Given the description of an element on the screen output the (x, y) to click on. 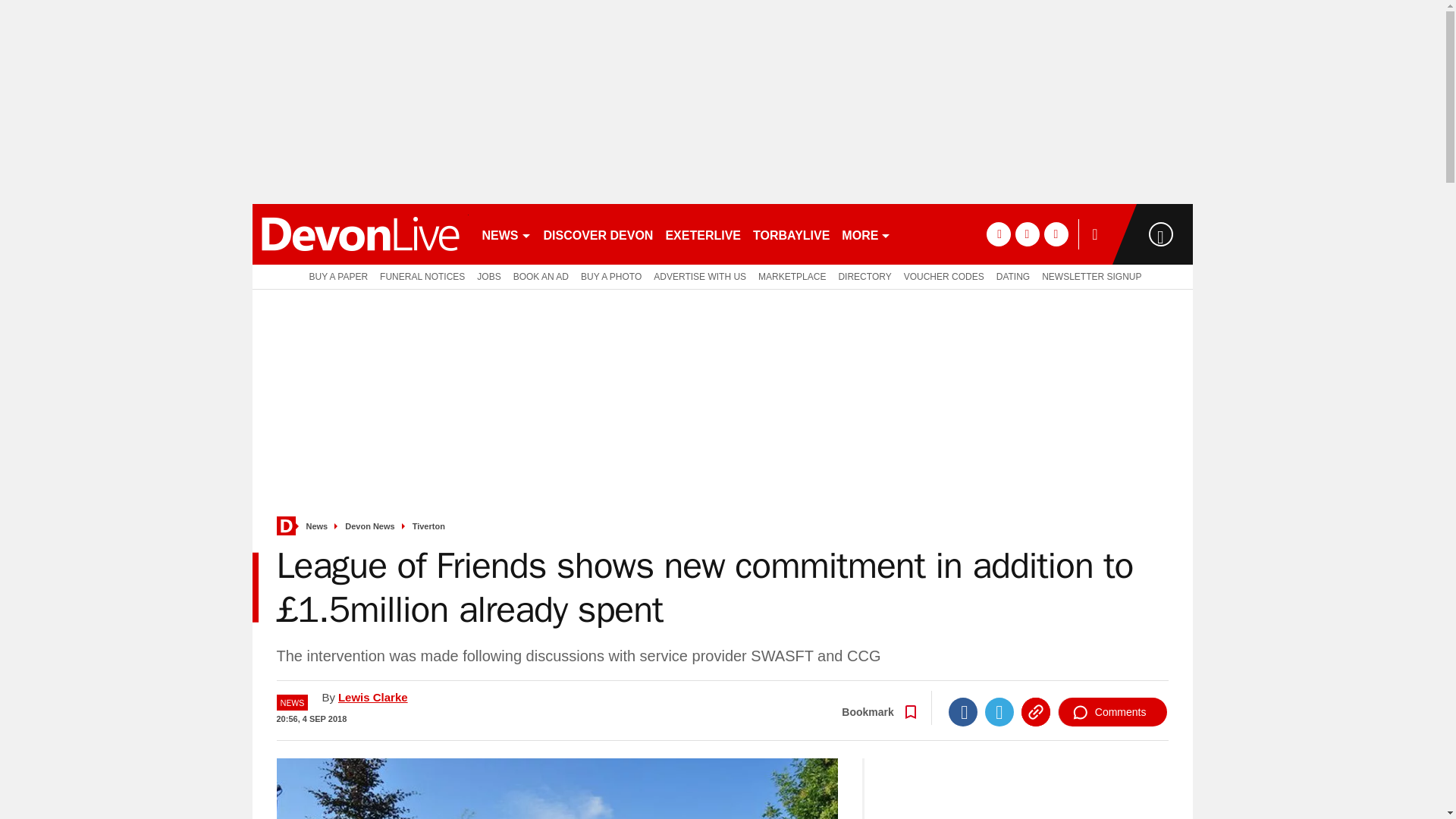
facebook (997, 233)
devonlive (359, 233)
Twitter (999, 711)
instagram (1055, 233)
NEWS (506, 233)
Facebook (962, 711)
MORE (865, 233)
twitter (1026, 233)
Comments (1112, 711)
TORBAYLIVE (790, 233)
